Given the description of an element on the screen output the (x, y) to click on. 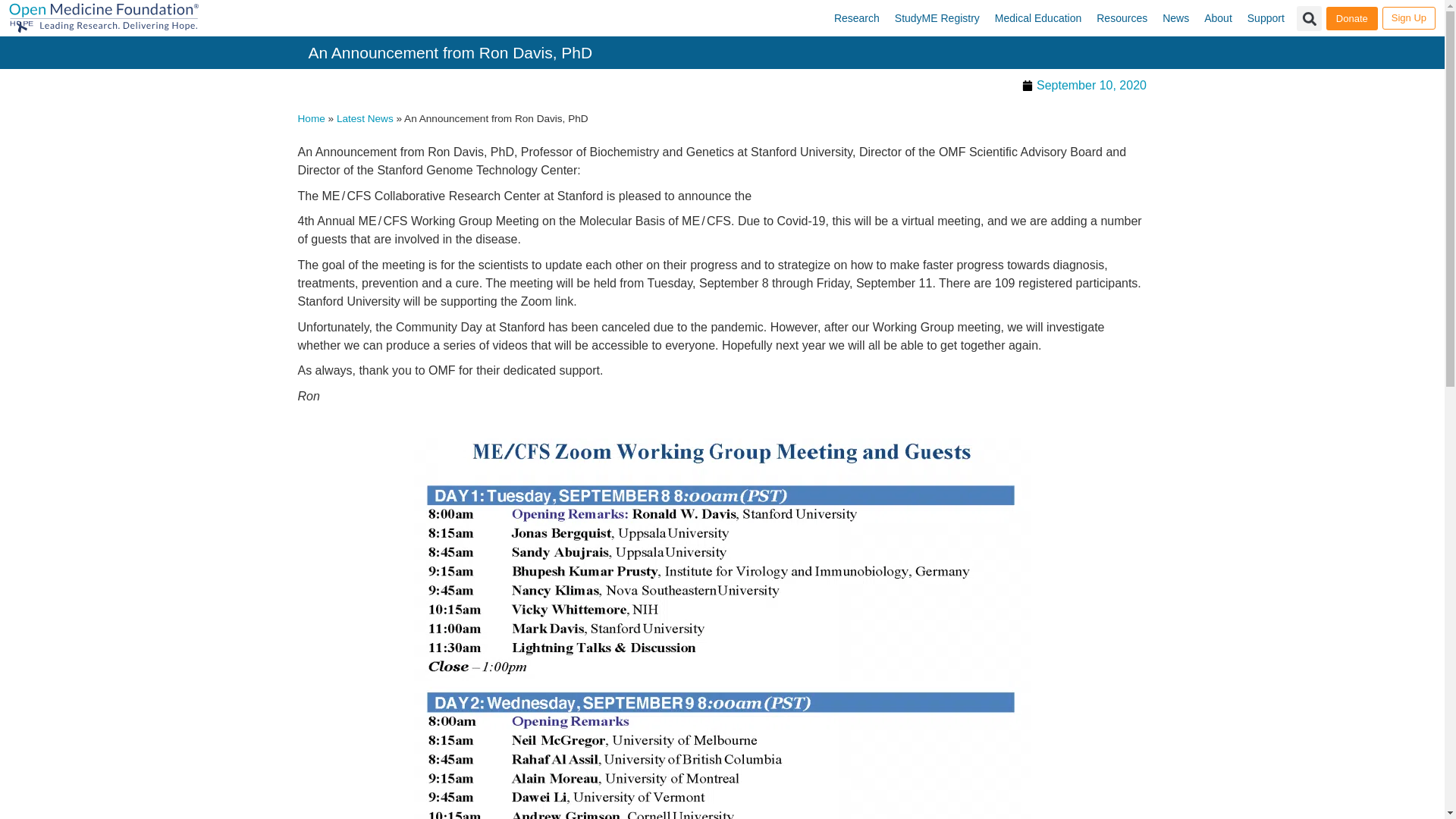
News (1175, 18)
Research (856, 18)
StudyME Registry (936, 18)
Medical Education (1038, 18)
Resources (1121, 18)
About (1218, 18)
